Given the description of an element on the screen output the (x, y) to click on. 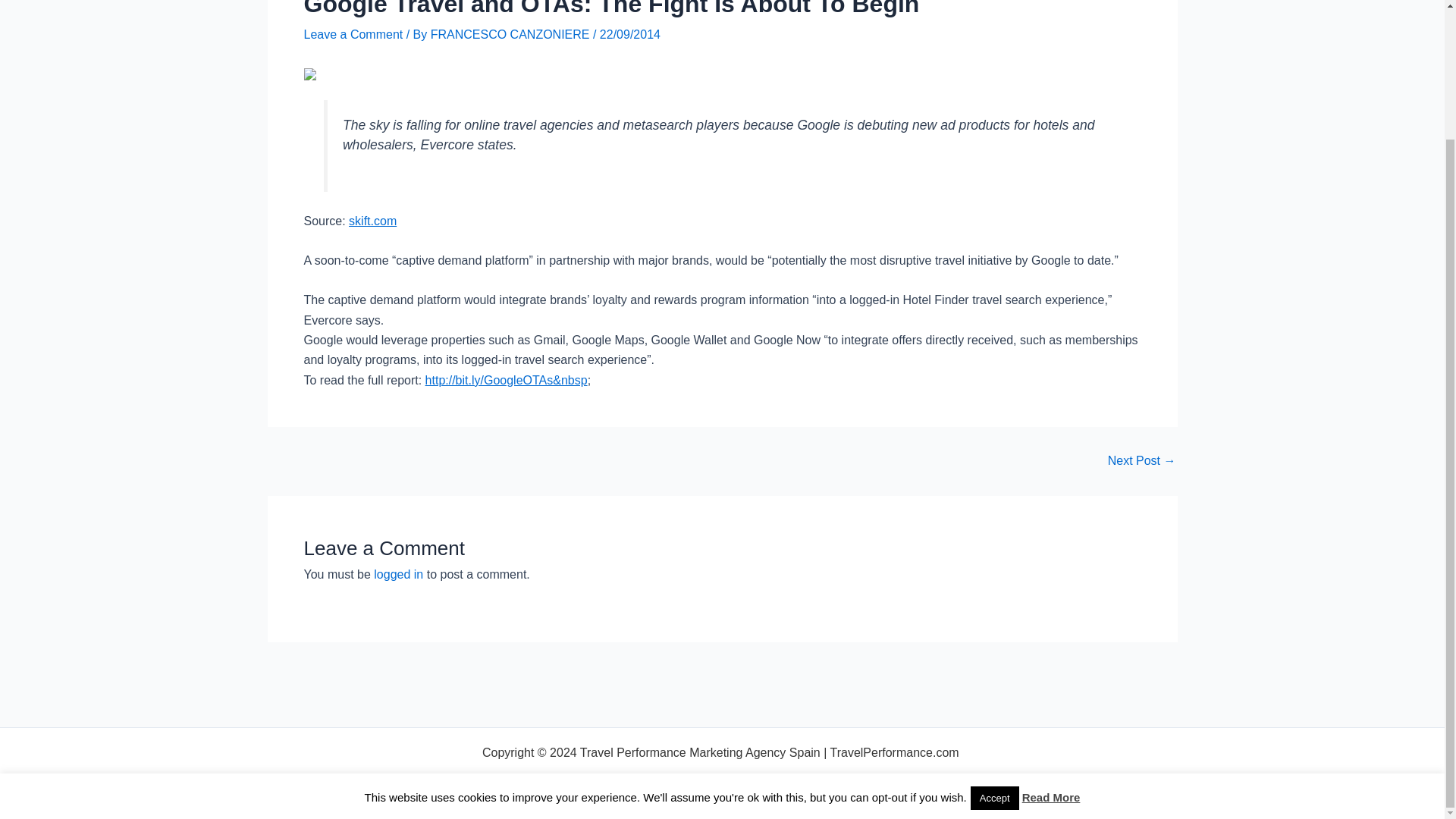
View all posts by FRANCESCO CANZONIERE (511, 33)
logged in (398, 574)
Leave a Comment (352, 33)
Read More (1051, 640)
Accept (995, 640)
FRANCESCO CANZONIERE (511, 33)
skift.com (372, 220)
